Given the description of an element on the screen output the (x, y) to click on. 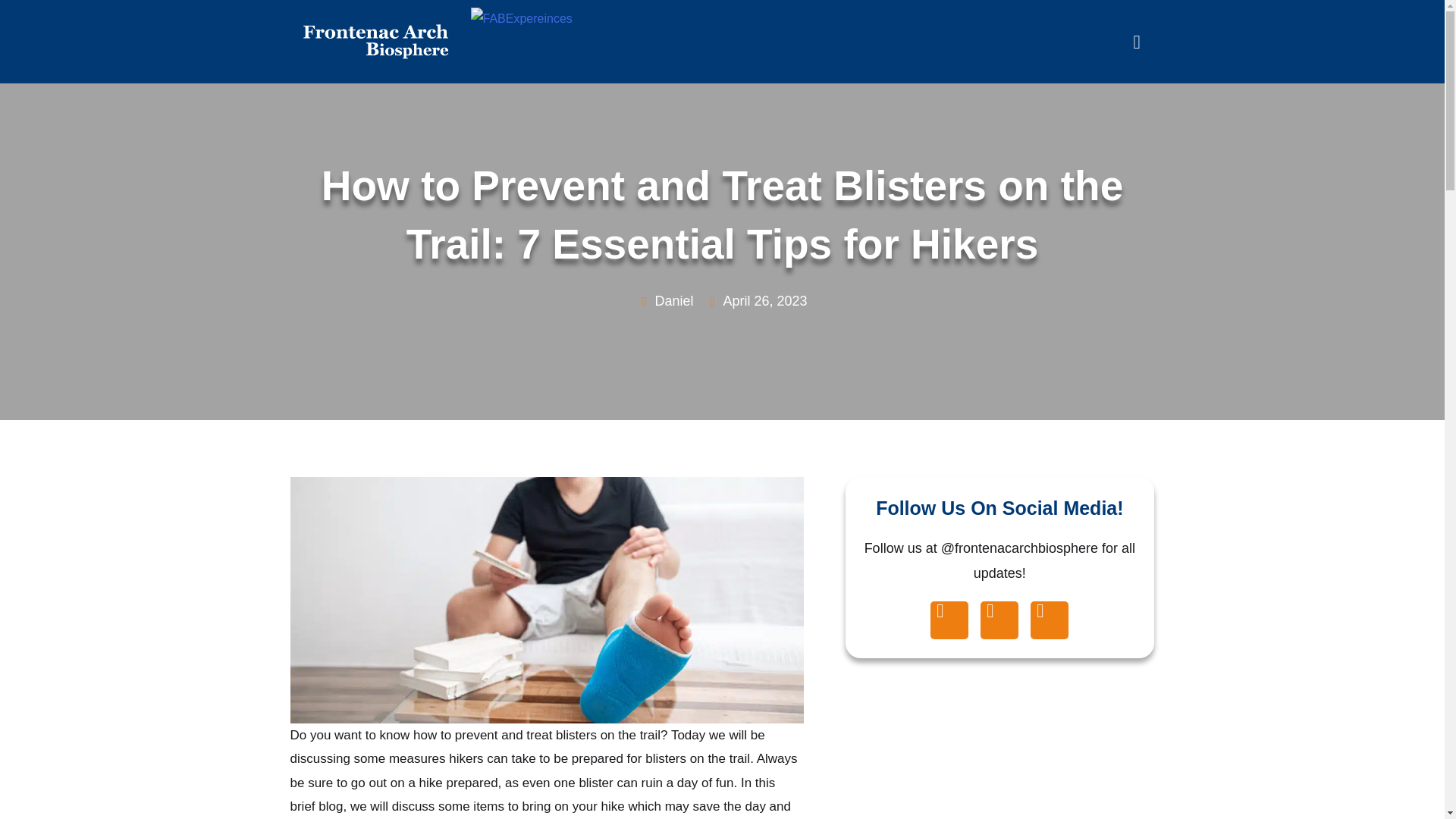
Facebook (949, 620)
Daniel (665, 301)
Instagram (1049, 620)
Twitter (998, 620)
April 26, 2023 (755, 301)
